Given the description of an element on the screen output the (x, y) to click on. 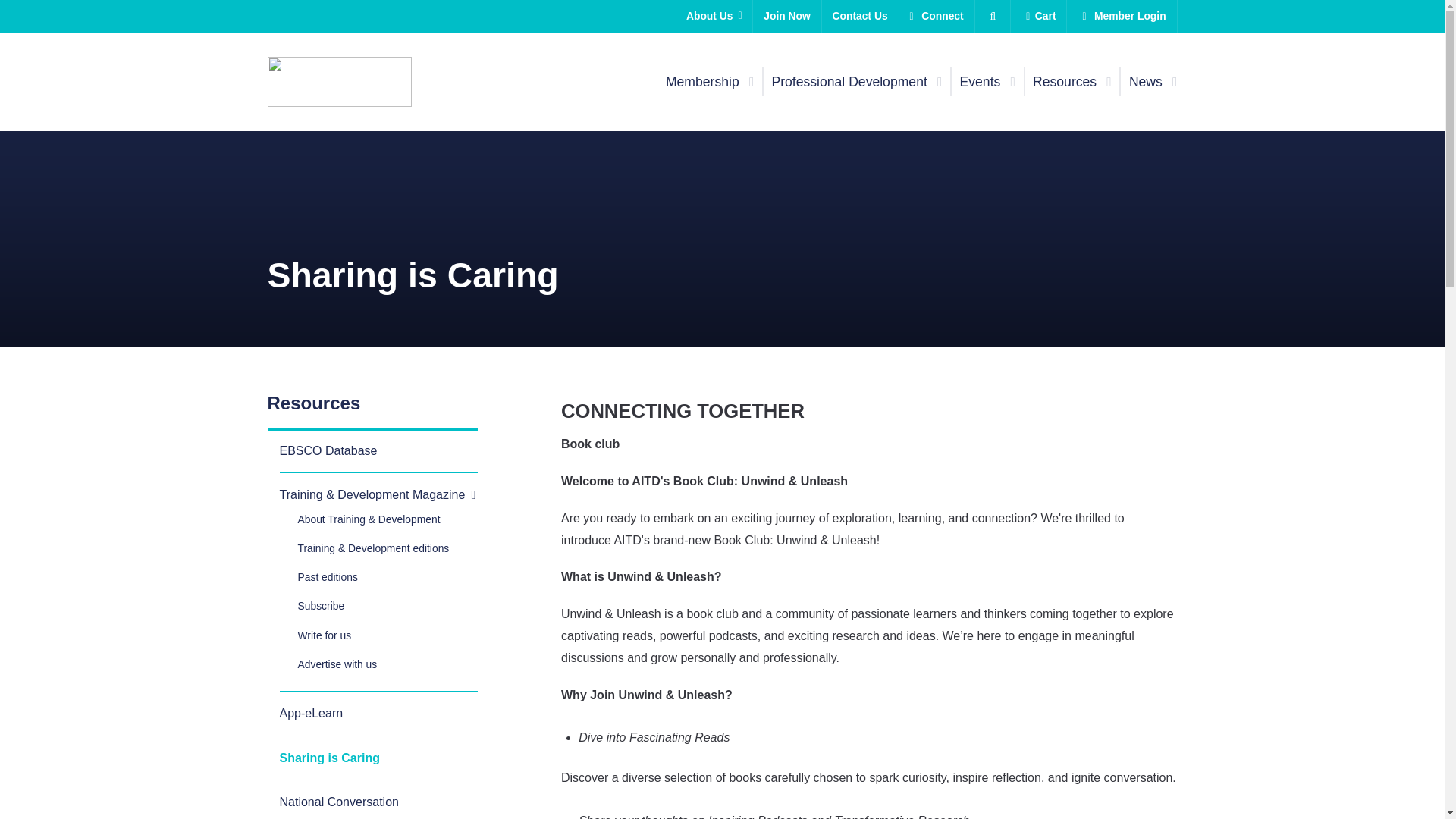
Cart (1037, 16)
 Connect (936, 16)
Join Now (786, 16)
Contact Us (860, 16)
Member Login (1121, 16)
About Us (713, 16)
Membership (709, 82)
